Given the description of an element on the screen output the (x, y) to click on. 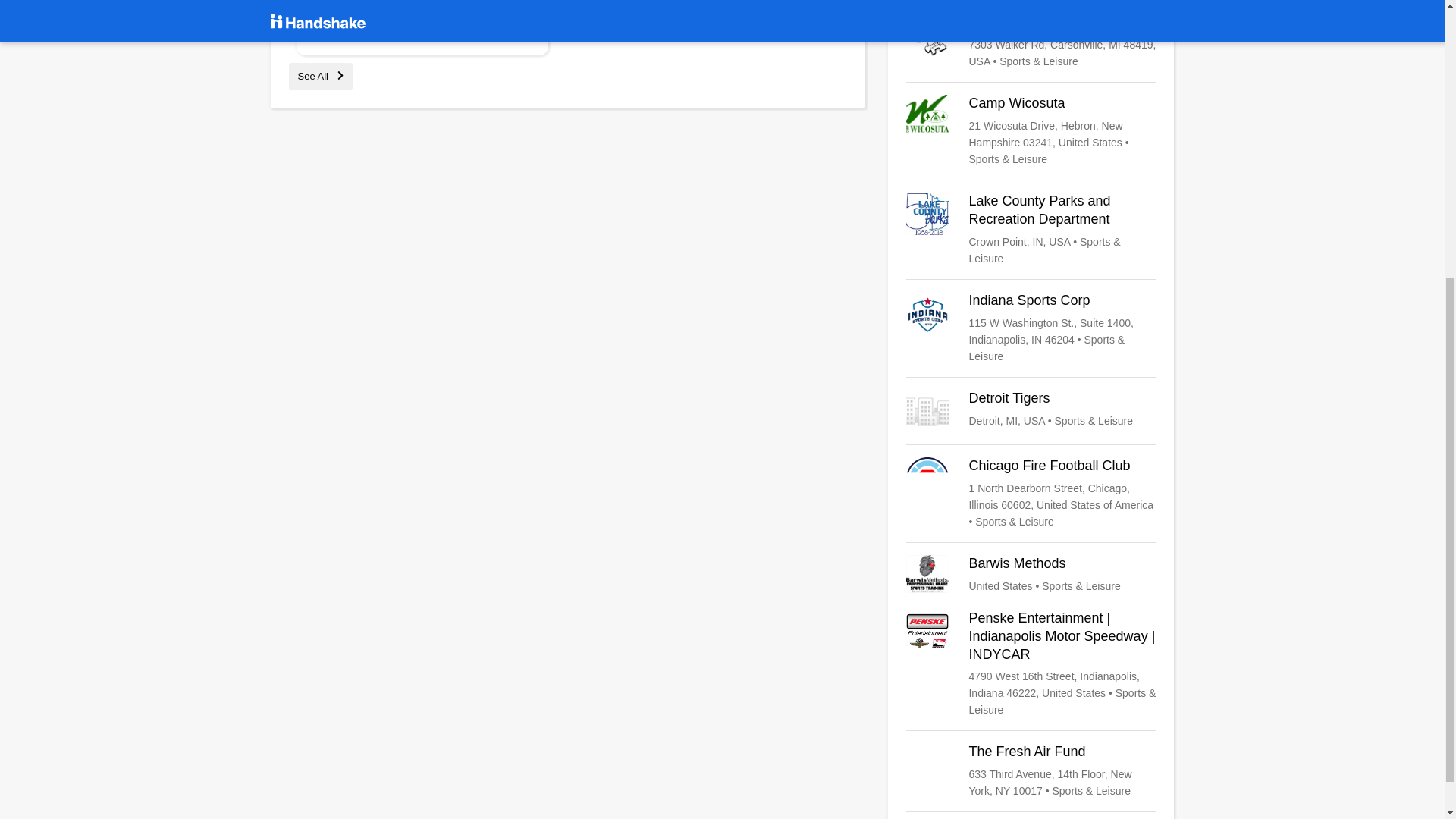
Camp Wicosuta (1030, 131)
Barwis Methods (1030, 576)
Lake County Parks and Recreation Department (1030, 229)
Camps Connect (1030, 41)
The Fresh Air Fund (1030, 770)
Chicago Fire Football Club (1030, 493)
Detroit Tigers (1030, 410)
See All (320, 75)
Indiana Sports Corp (1030, 327)
